Given the description of an element on the screen output the (x, y) to click on. 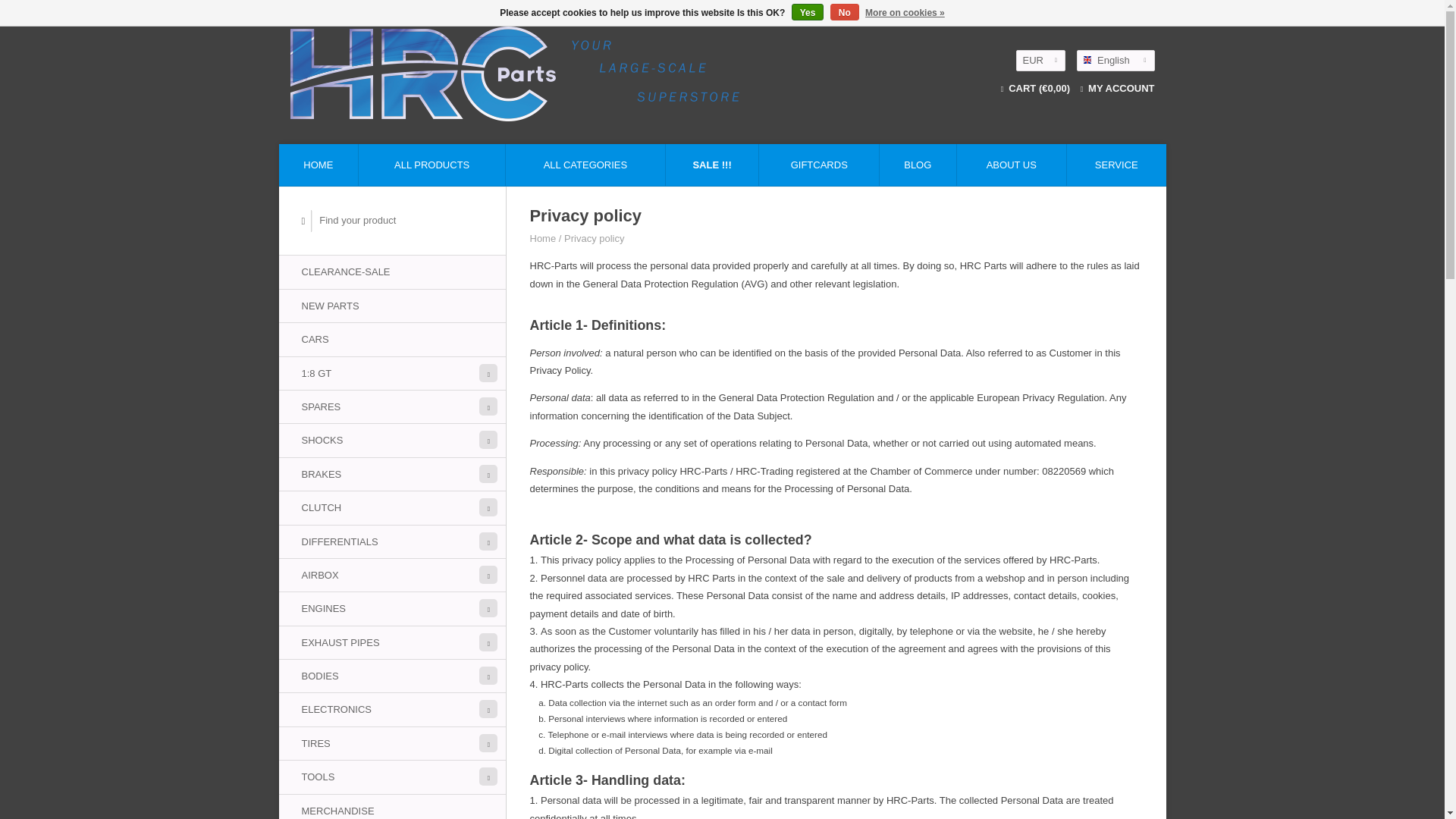
About us (1011, 164)
1:8 GT (392, 373)
1:8 GT (392, 373)
GIFTCARDS (818, 164)
GiftCards (818, 164)
Service (1116, 164)
CLEARANCE-SALE (392, 271)
NEW PARTS (392, 305)
HRC-Parts, "Your Large-Scale Superstore" (611, 73)
Clearance-sale (392, 271)
